Given the description of an element on the screen output the (x, y) to click on. 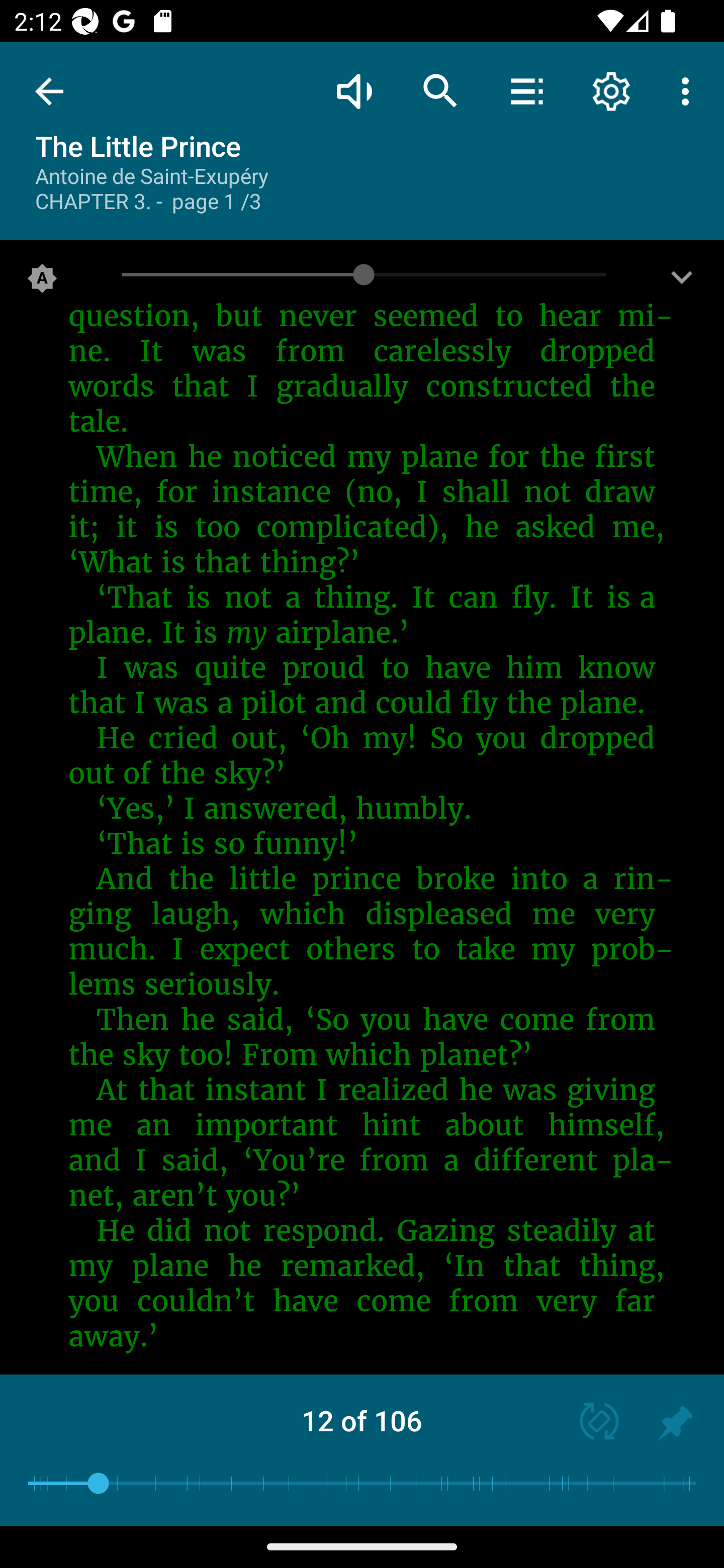
Exit reading (49, 91)
Read aloud (354, 90)
Text search (440, 90)
Contents / Bookmarks / Quotes (526, 90)
Reading settings (611, 90)
More options (688, 90)
Selected screen brightness (42, 281)
Screen brightness settings (681, 281)
12 of 106 (361, 1420)
Screen orientation (590, 1423)
Add to history (674, 1423)
